Given the description of an element on the screen output the (x, y) to click on. 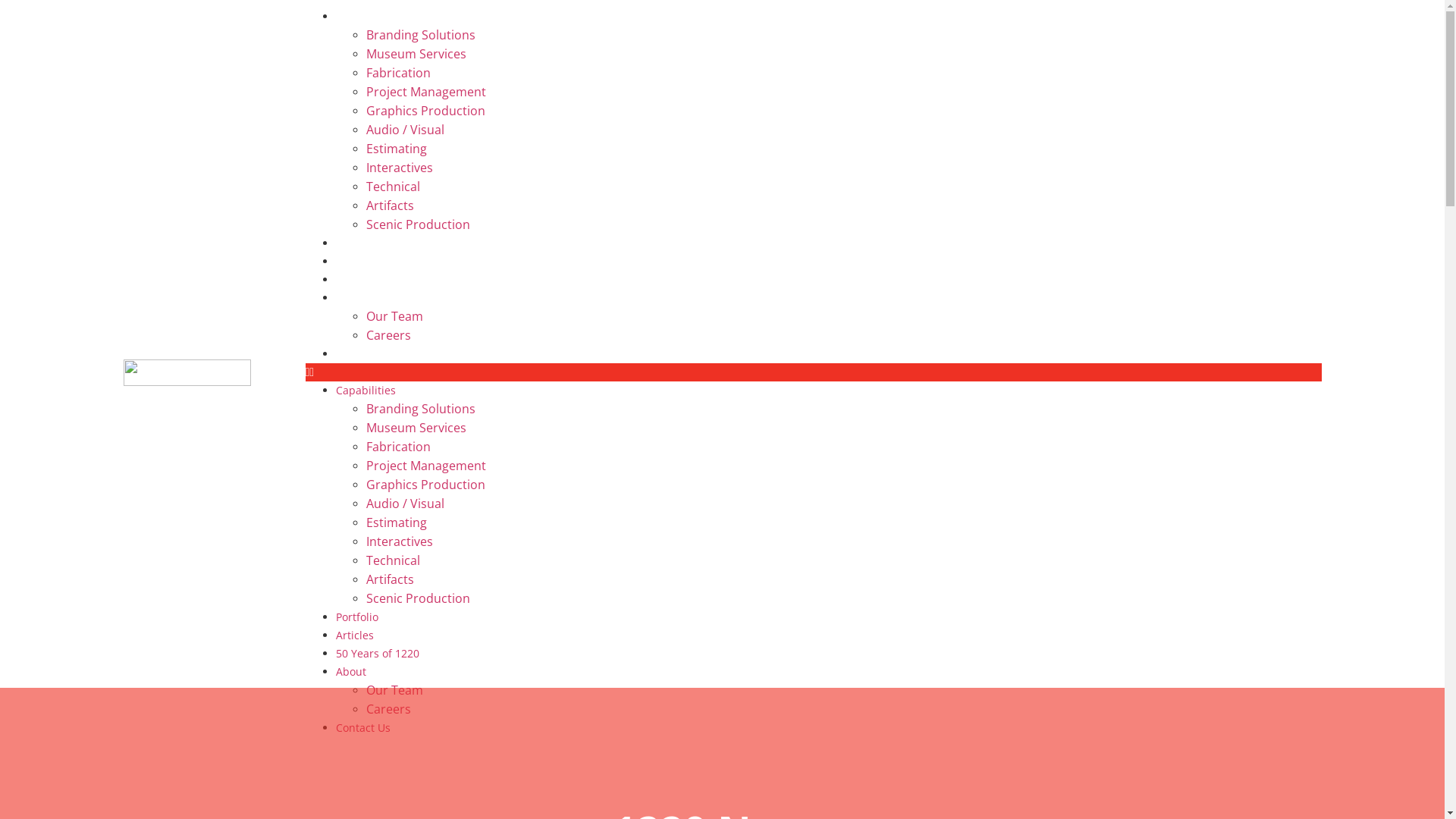
Branding Solutions Element type: text (419, 34)
Graphics Production Element type: text (424, 110)
Museum Services Element type: text (415, 427)
Technical Element type: text (392, 560)
Articles Element type: text (354, 261)
Branding Solutions Element type: text (419, 408)
Our Team Element type: text (393, 315)
Estimating Element type: text (395, 148)
Our Team Element type: text (393, 689)
Audio / Visual Element type: text (404, 129)
About Element type: text (350, 671)
About Element type: text (350, 297)
Technical Element type: text (392, 186)
Interactives Element type: text (398, 541)
Graphics Production Element type: text (424, 484)
Estimating Element type: text (395, 522)
Artifacts Element type: text (389, 205)
Project Management Element type: text (425, 91)
Scenic Production Element type: text (417, 224)
Fabrication Element type: text (397, 446)
50 Years of 1220 Element type: text (376, 653)
Contact Us Element type: text (362, 353)
Careers Element type: text (387, 708)
Portfolio Element type: text (356, 616)
Careers Element type: text (387, 334)
Interactives Element type: text (398, 167)
Portfolio Element type: text (356, 242)
Artifacts Element type: text (389, 579)
Contact Us Element type: text (362, 727)
Audio / Visual Element type: text (404, 503)
Fabrication Element type: text (397, 72)
Capabilities Element type: text (365, 389)
Project Management Element type: text (425, 465)
Articles Element type: text (354, 634)
Capabilities Element type: text (365, 16)
Scenic Production Element type: text (417, 597)
50 Years of 1220 Element type: text (376, 279)
Museum Services Element type: text (415, 53)
